Given the description of an element on the screen output the (x, y) to click on. 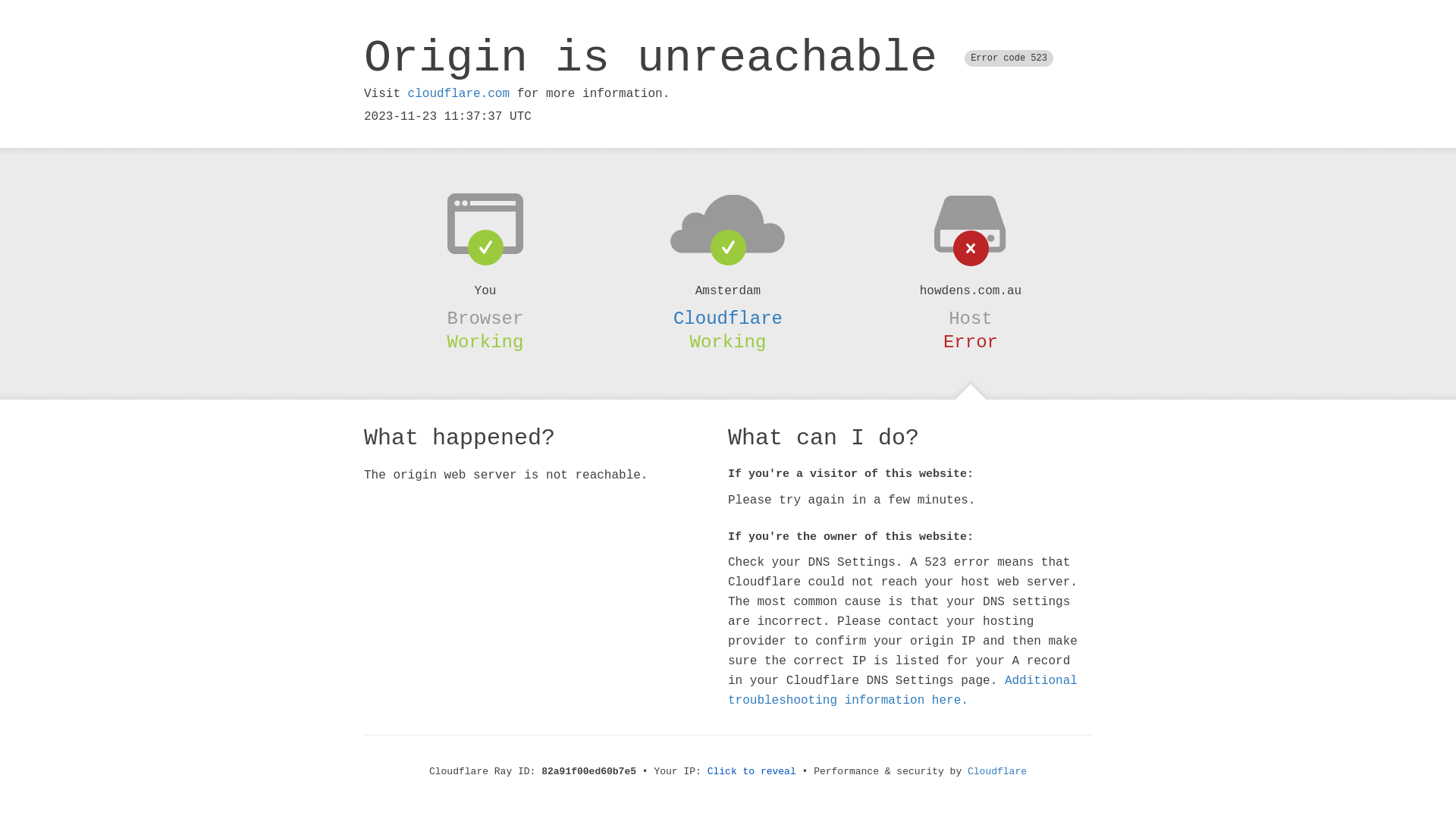
Cloudflare Element type: text (727, 318)
Additional troubleshooting information here. Element type: text (902, 690)
cloudflare.com Element type: text (458, 93)
Cloudflare Element type: text (996, 771)
Click to reveal Element type: text (751, 771)
